Given the description of an element on the screen output the (x, y) to click on. 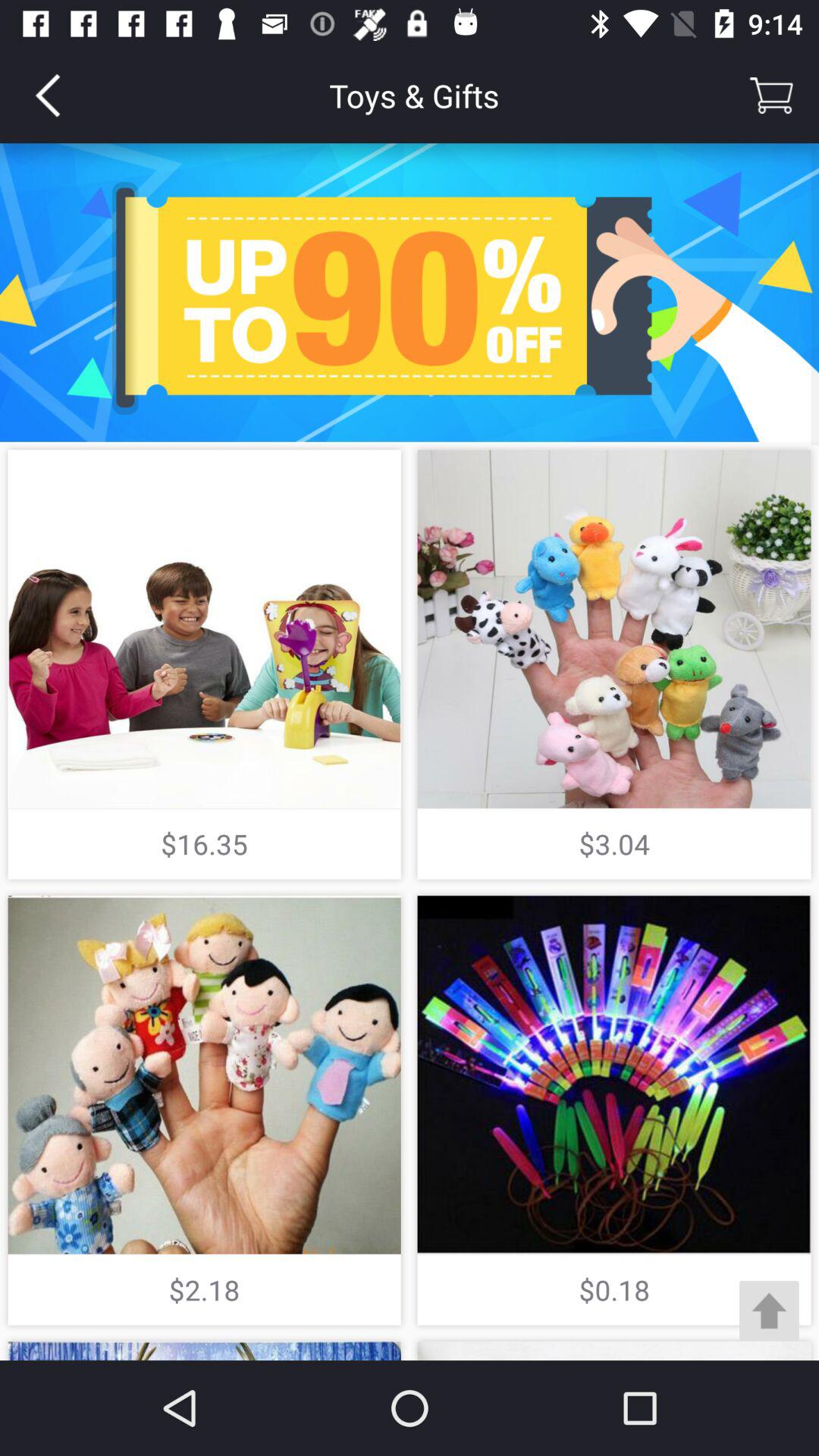
option to scroll the page quickly (769, 1310)
